Given the description of an element on the screen output the (x, y) to click on. 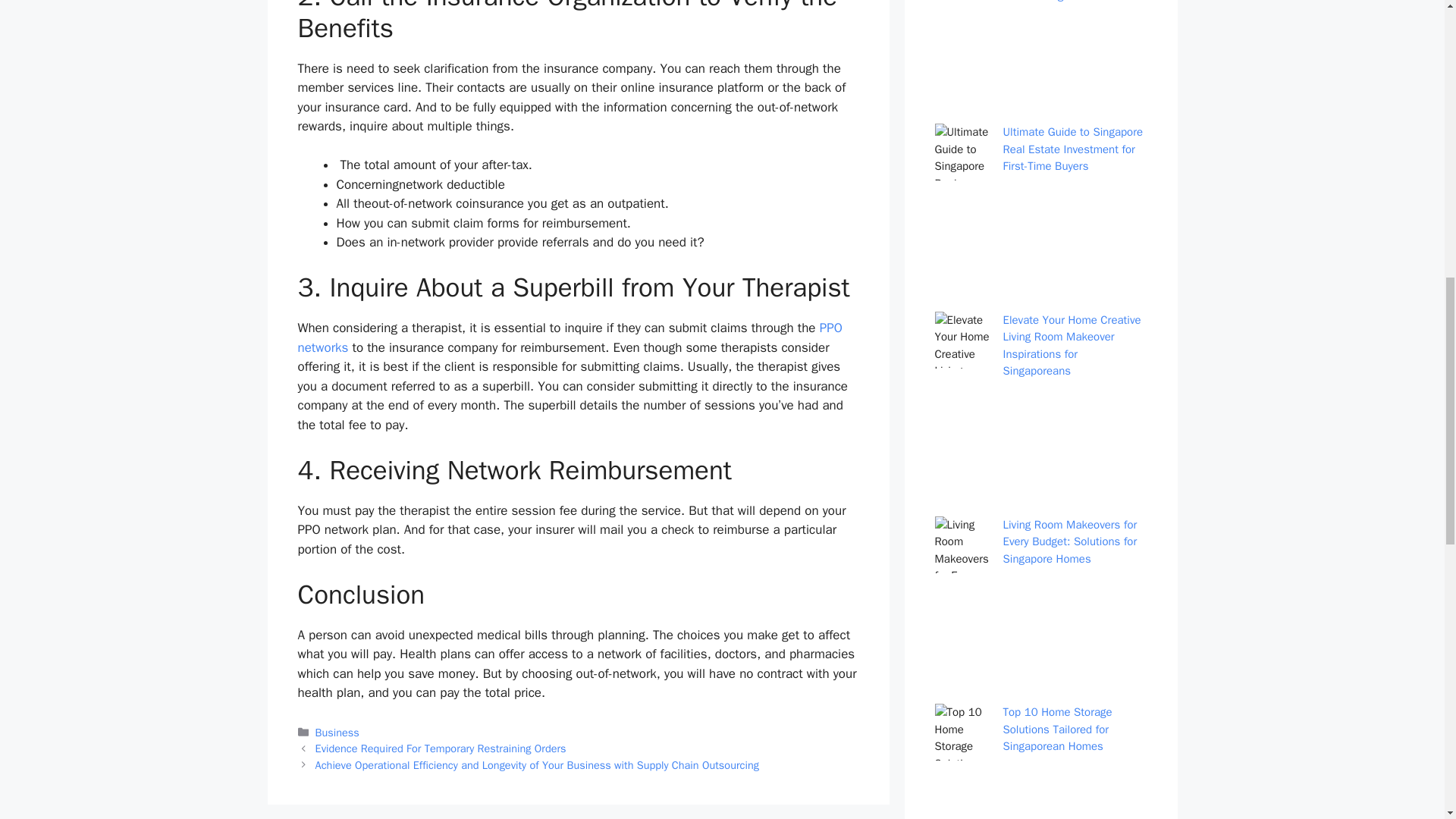
Previous (440, 748)
Next (536, 765)
PPO networks (569, 337)
Business (337, 732)
Top 10 Home Storage Solutions Tailored for Singaporean Homes (1057, 728)
